Given the description of an element on the screen output the (x, y) to click on. 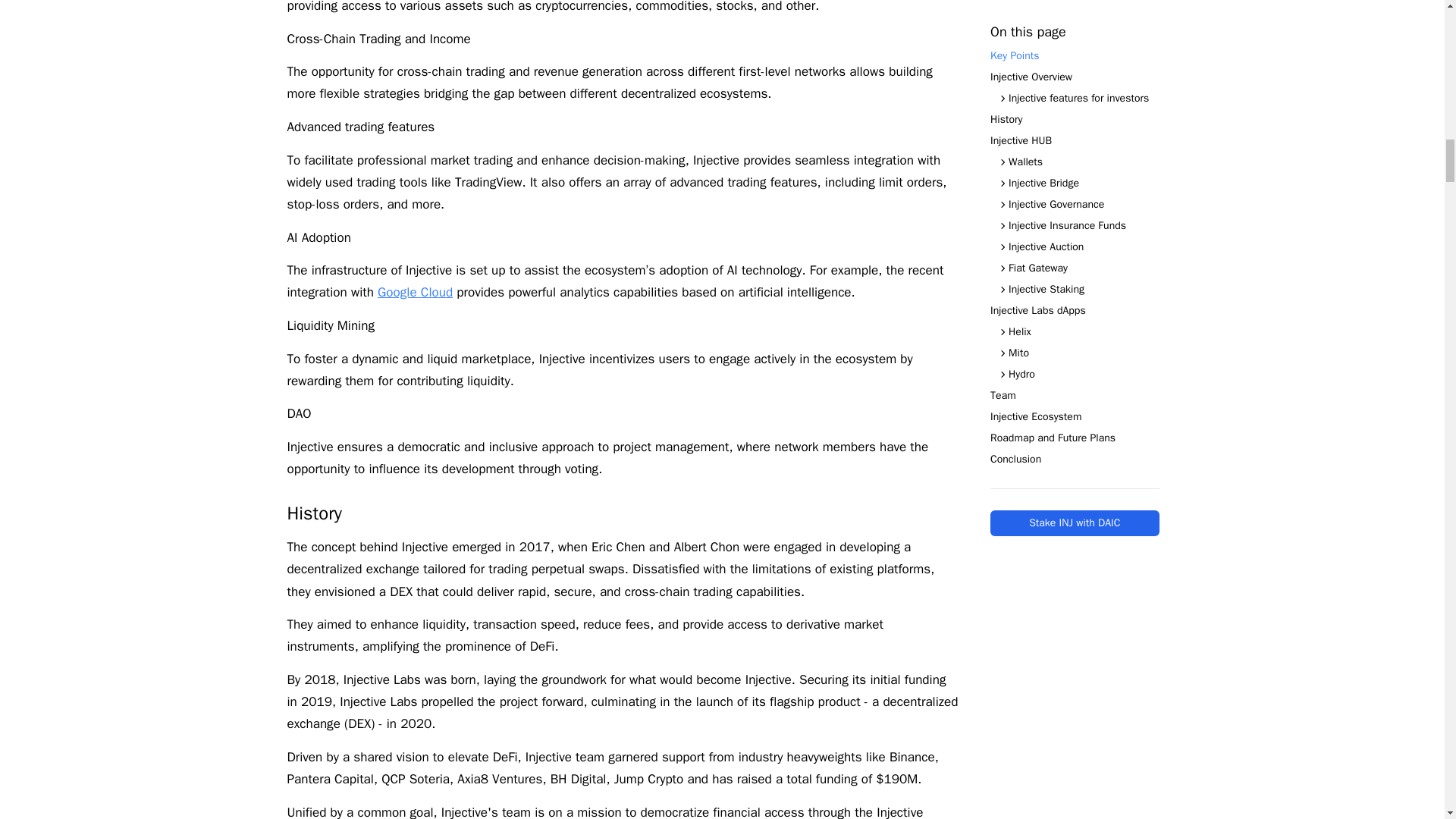
Google Cloud (414, 292)
